Given the description of an element on the screen output the (x, y) to click on. 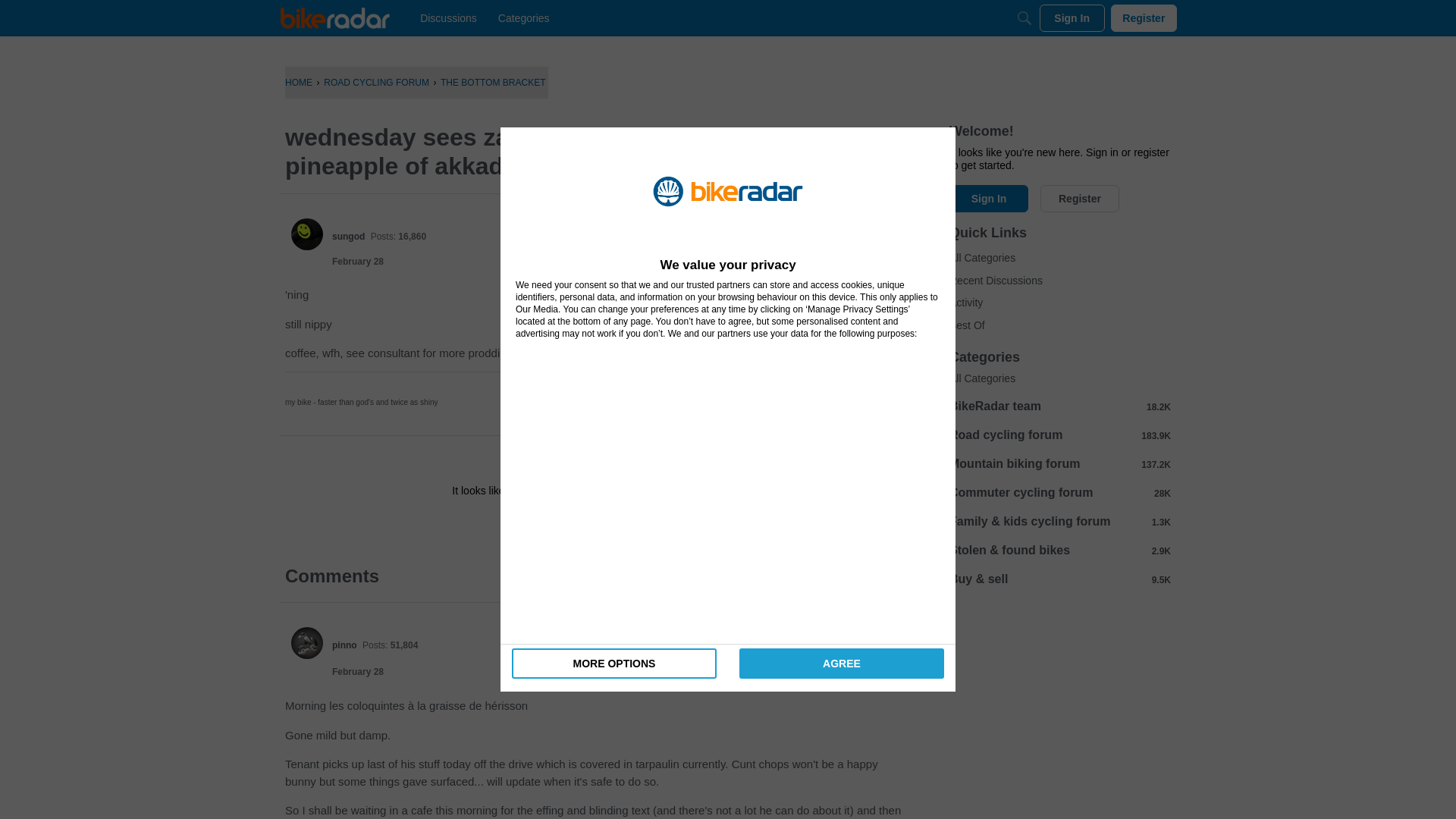
pinno (343, 644)
February 28 (357, 671)
Sign In (1072, 17)
Sign In (547, 524)
Register (1143, 17)
February 28 (357, 261)
THE BOTTOM BRACKET (492, 81)
sungod (307, 234)
Discussions (448, 17)
pinno (307, 643)
Register (638, 524)
sungod (348, 235)
Search (1024, 17)
ROAD CYCLING FORUM (376, 81)
Categories (524, 17)
